Given the description of an element on the screen output the (x, y) to click on. 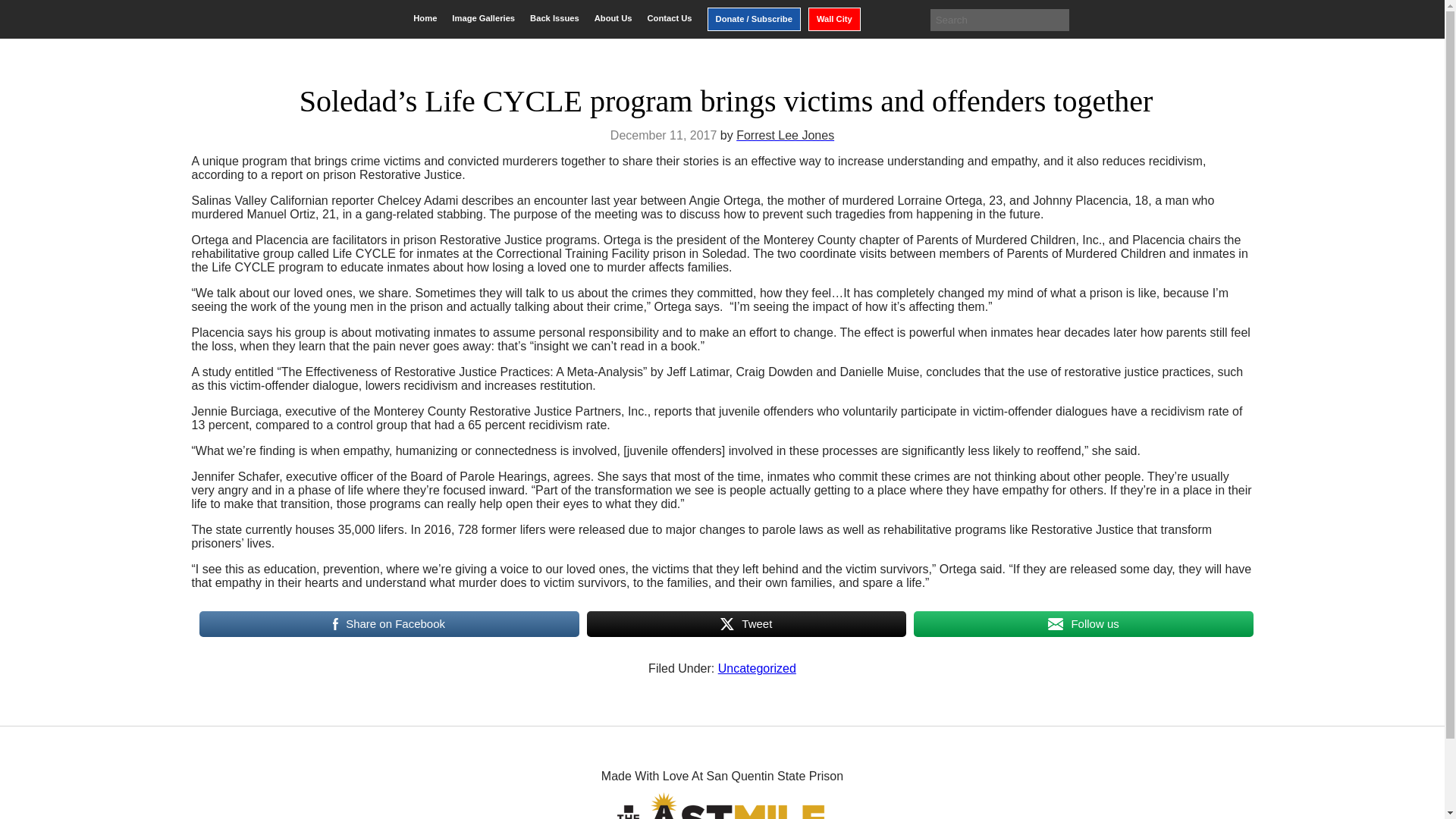
Back Issues (554, 17)
Contact Us (668, 17)
Follow us (1083, 623)
Forrest Lee Jones (785, 134)
Uncategorized (756, 667)
Tweet (745, 623)
Wall City (833, 18)
Image Galleries (483, 17)
Share on Facebook (388, 623)
About Us (612, 17)
Home (424, 17)
Search (22, 12)
